Given the description of an element on the screen output the (x, y) to click on. 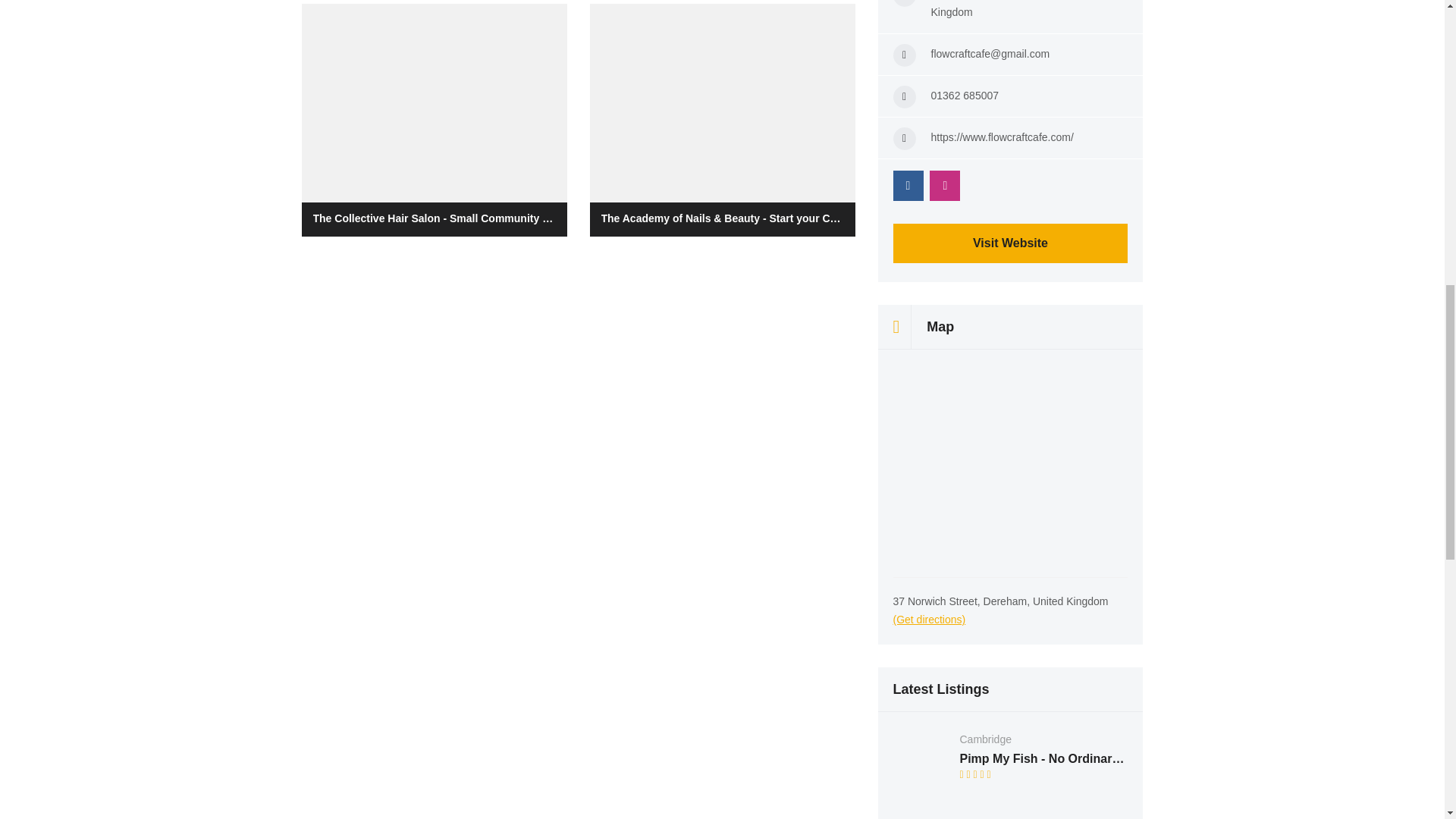
01362 685007 (964, 95)
Contact (436, 28)
The Collective Hair Salon - Small Community Salon (434, 120)
Find Us (636, 28)
Description (349, 28)
Visit Website (1010, 242)
